Given the description of an element on the screen output the (x, y) to click on. 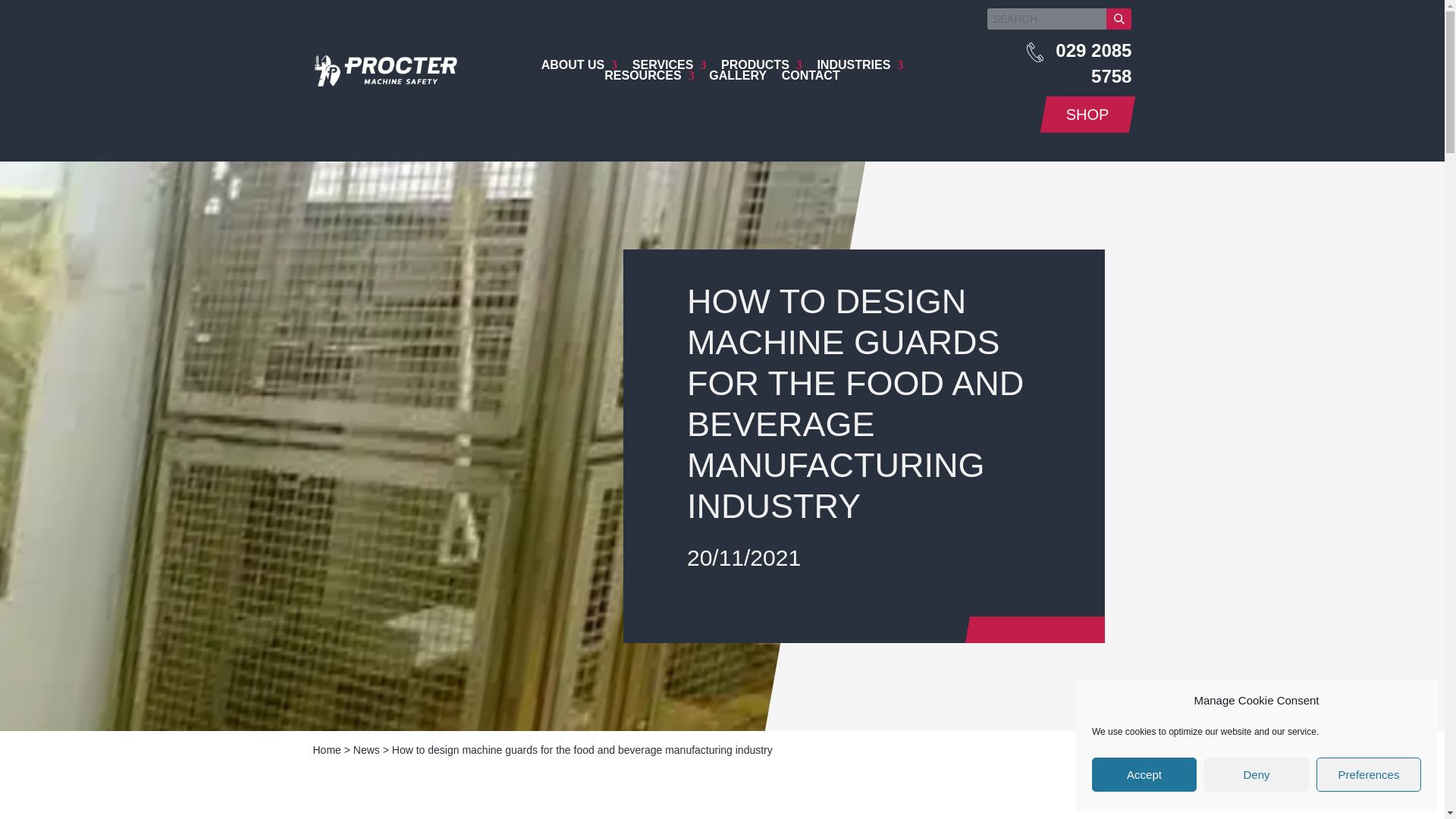
Procter Machine Safety Logo (385, 82)
Go to Procter Machine Safety. (326, 749)
SERVICES (668, 64)
Accept (1144, 774)
Search (1119, 18)
Search (1119, 18)
PRODUCTS (761, 64)
Deny (1256, 774)
ABOUT US (579, 64)
Preferences (1368, 774)
